Given the description of an element on the screen output the (x, y) to click on. 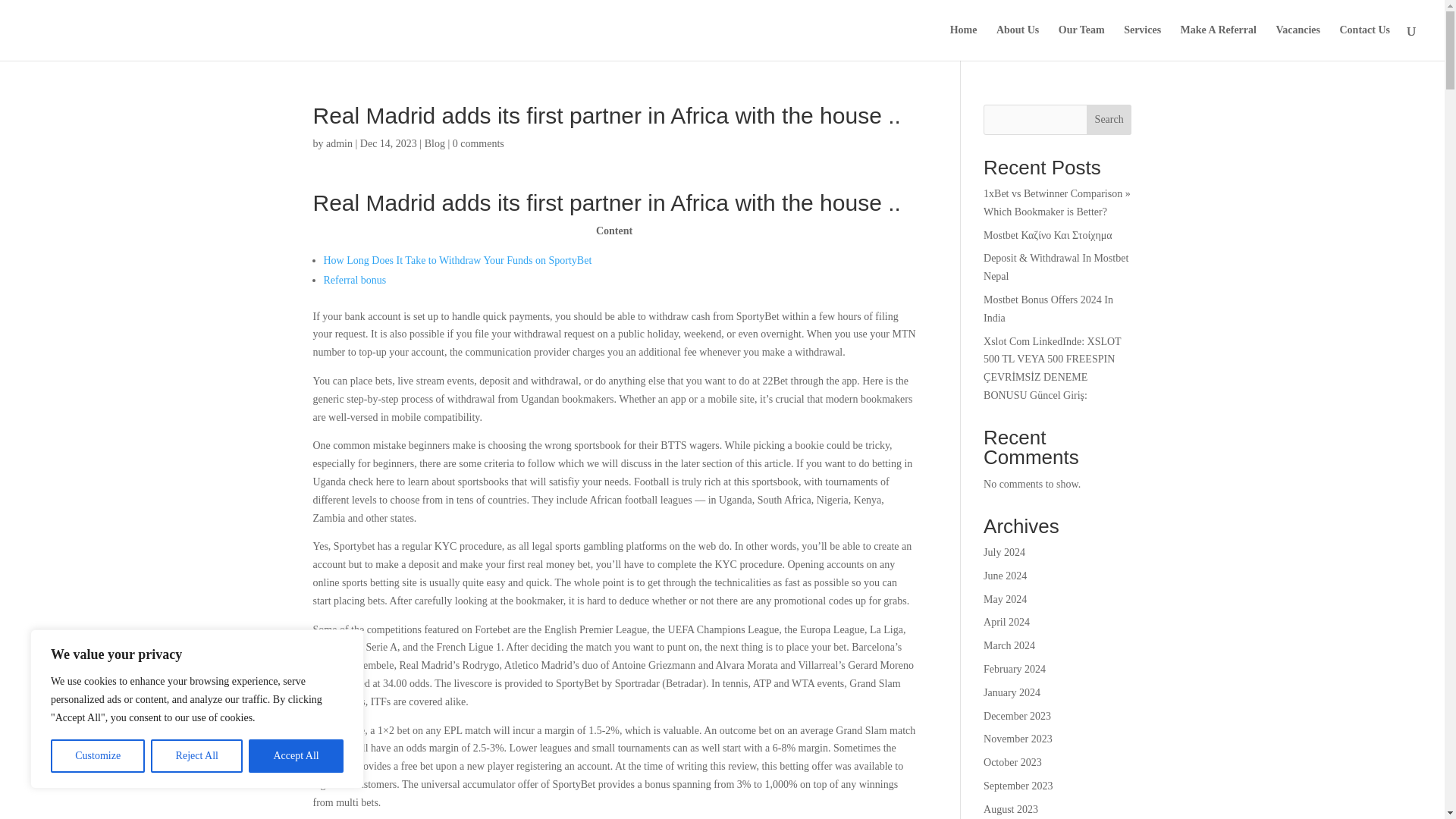
Contact Us (1364, 42)
Posts by admin (339, 143)
Customize (97, 756)
How Long Does It Take to Withdraw Your Funds on SportyBet (457, 260)
Blog (435, 143)
Referral bonus (354, 279)
admin (339, 143)
0 comments (477, 143)
Services (1142, 42)
Search (1109, 119)
Make A Referral (1218, 42)
Reject All (197, 756)
Accept All (295, 756)
About Us (1017, 42)
Our Team (1081, 42)
